Given the description of an element on the screen output the (x, y) to click on. 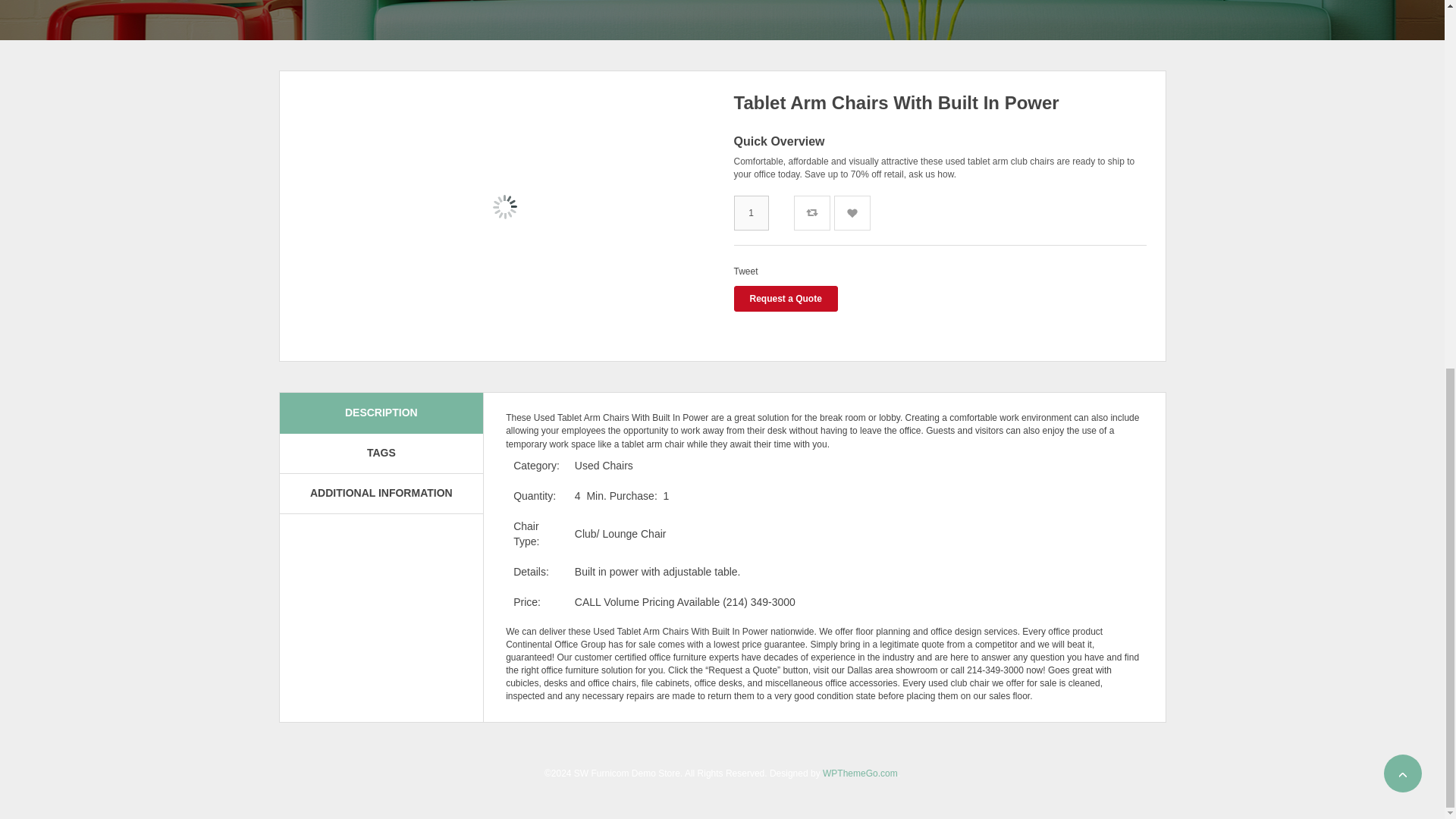
Tablet-Arm-Chairs-With-Built-In-Power-COG-72 (504, 247)
1 (750, 212)
